Given the description of an element on the screen output the (x, y) to click on. 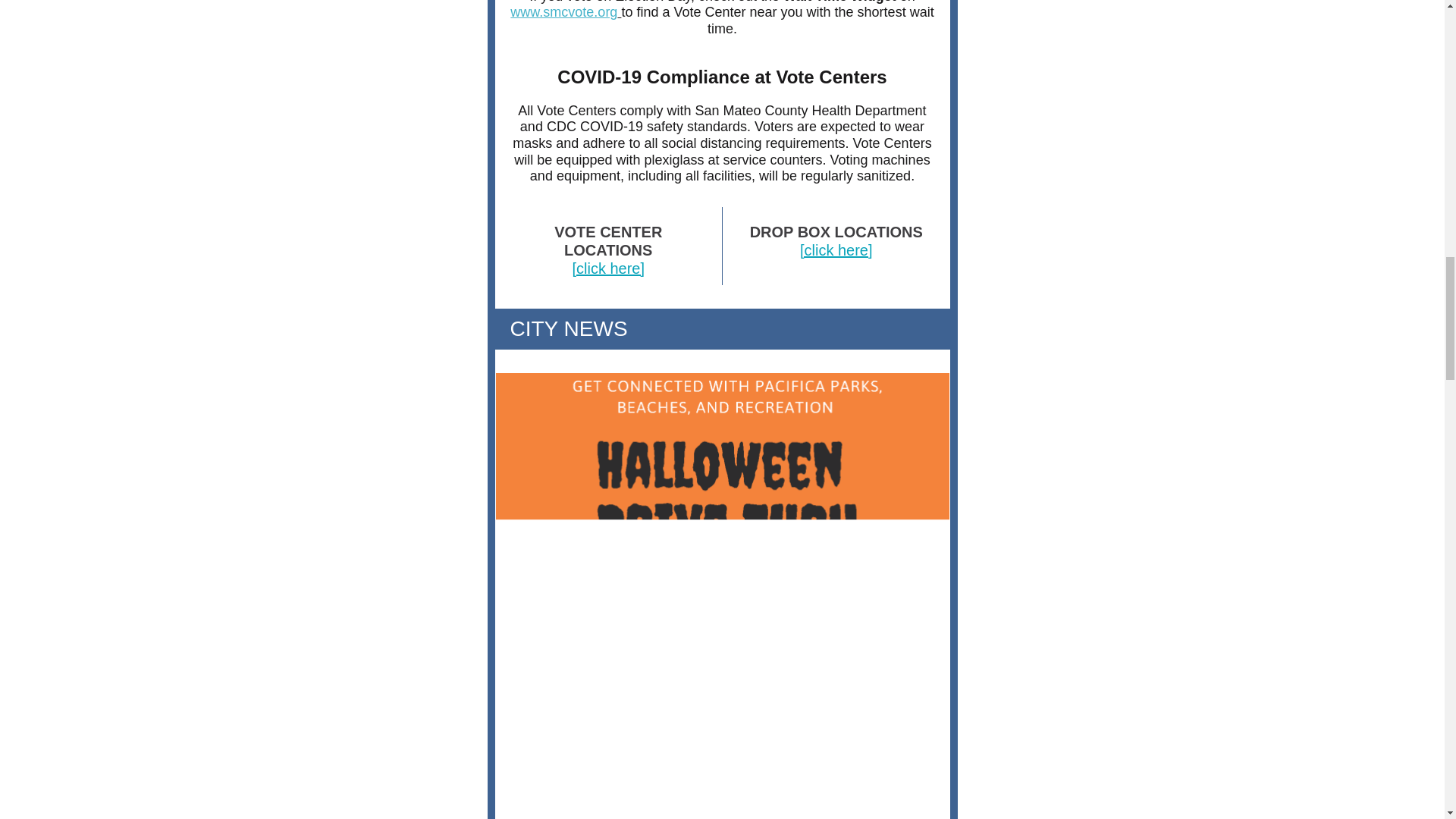
www.smcvote.org (564, 11)
